Given the description of an element on the screen output the (x, y) to click on. 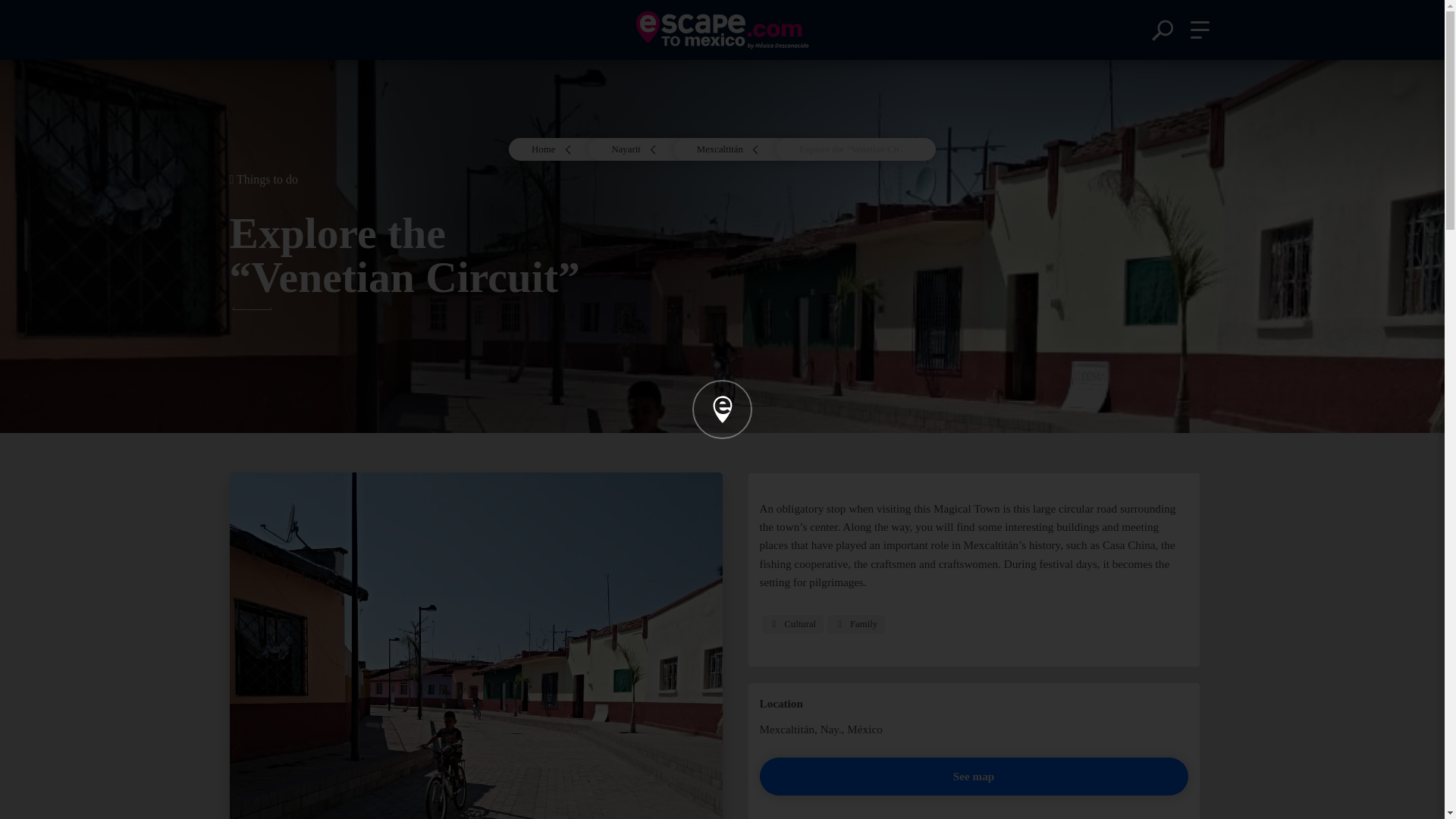
Nayarit (641, 149)
Acceder (720, 485)
See map (974, 776)
Home (559, 149)
